Given the description of an element on the screen output the (x, y) to click on. 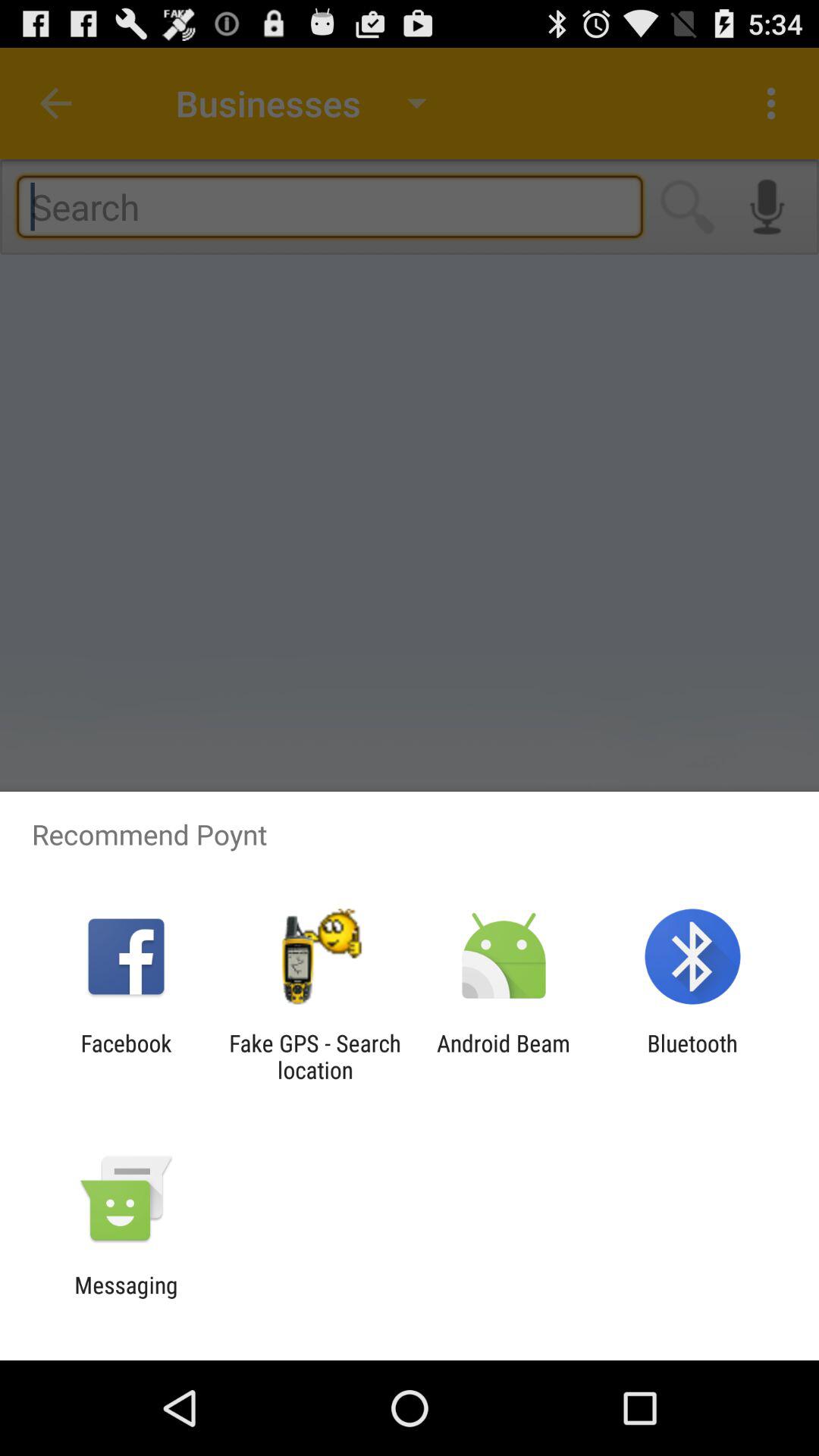
jump to messaging (126, 1298)
